Given the description of an element on the screen output the (x, y) to click on. 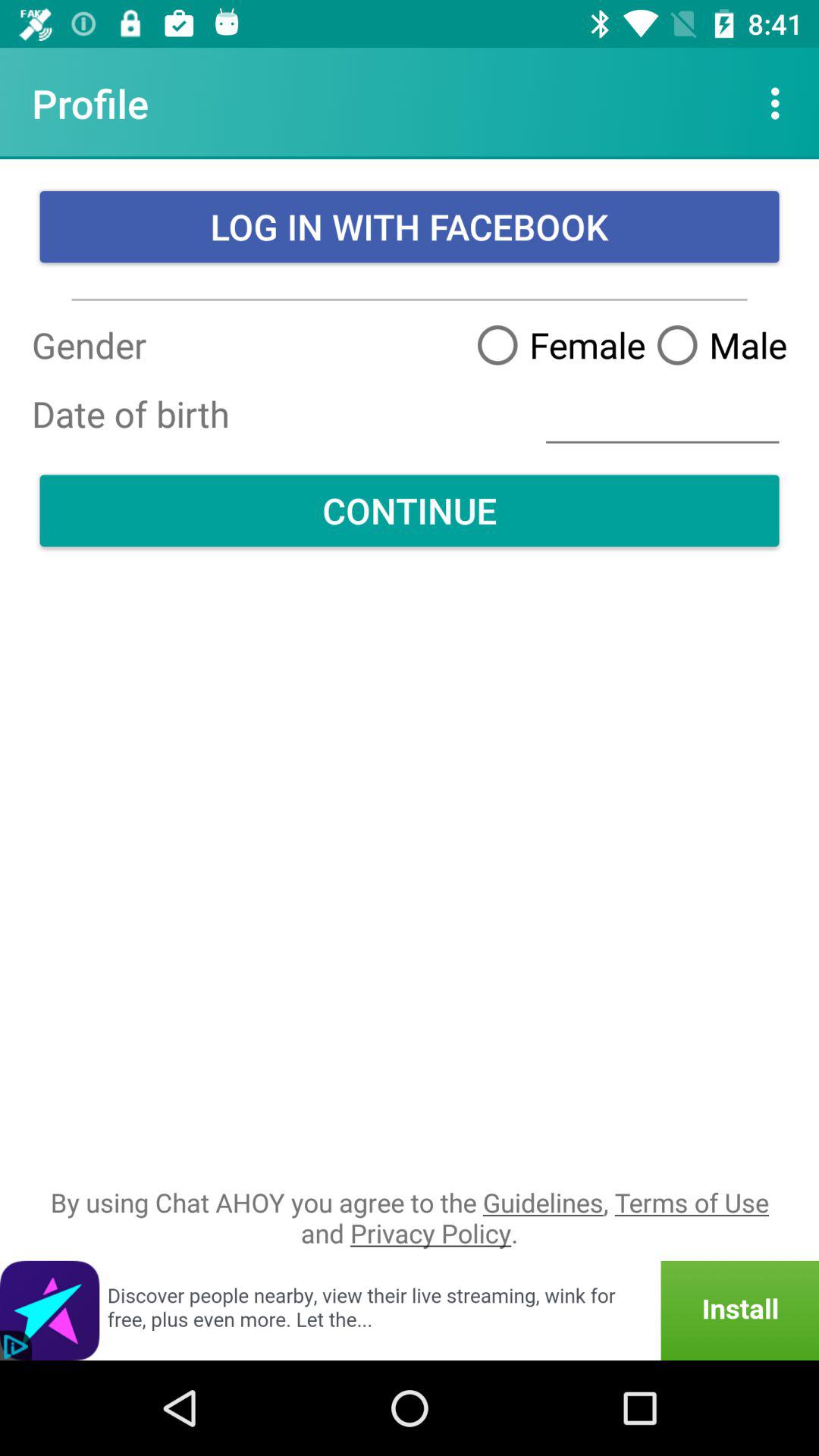
choose item above the continue icon (662, 413)
